Given the description of an element on the screen output the (x, y) to click on. 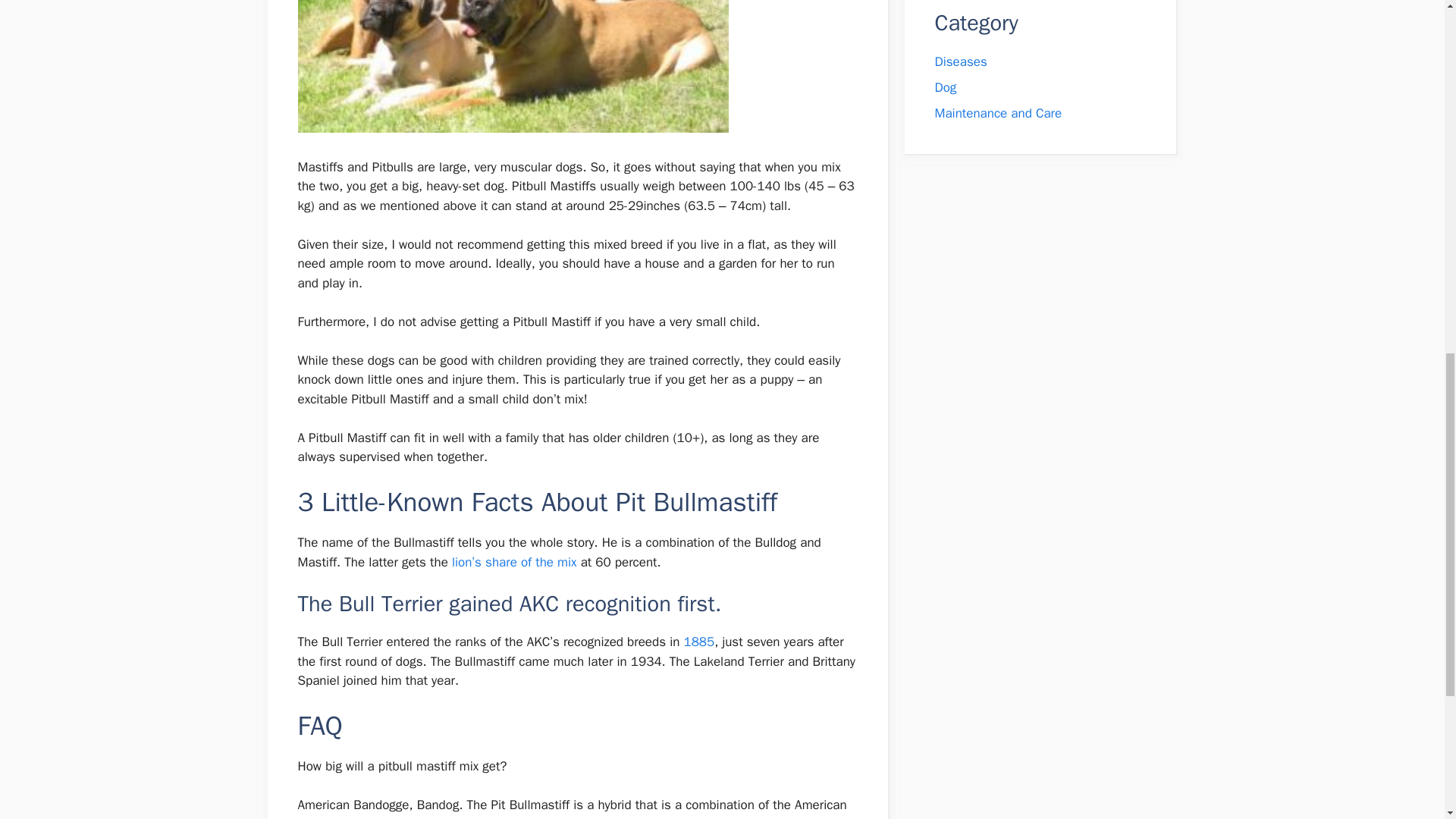
Diseases (960, 61)
Maintenance and Care (997, 113)
1885 (698, 641)
Dog (945, 87)
